Given the description of an element on the screen output the (x, y) to click on. 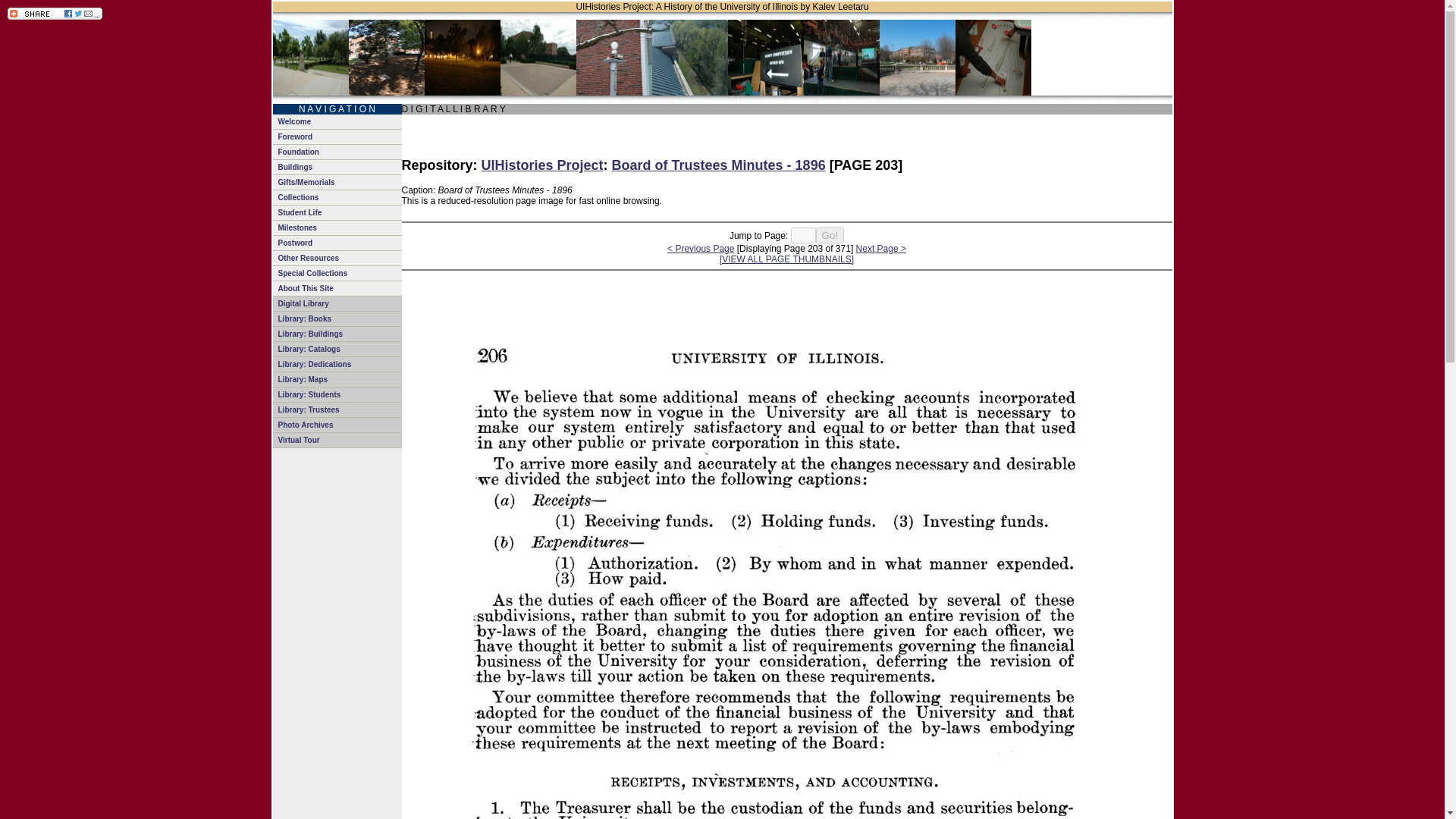
Library: Catalogs (337, 349)
Library: Dedications (337, 364)
Go! (829, 235)
Welcome (337, 121)
Foundation (337, 151)
UIHistories Project (542, 165)
Buildings (337, 167)
Collections (337, 197)
Other Resources (337, 258)
Library: Buildings (337, 334)
